Given the description of an element on the screen output the (x, y) to click on. 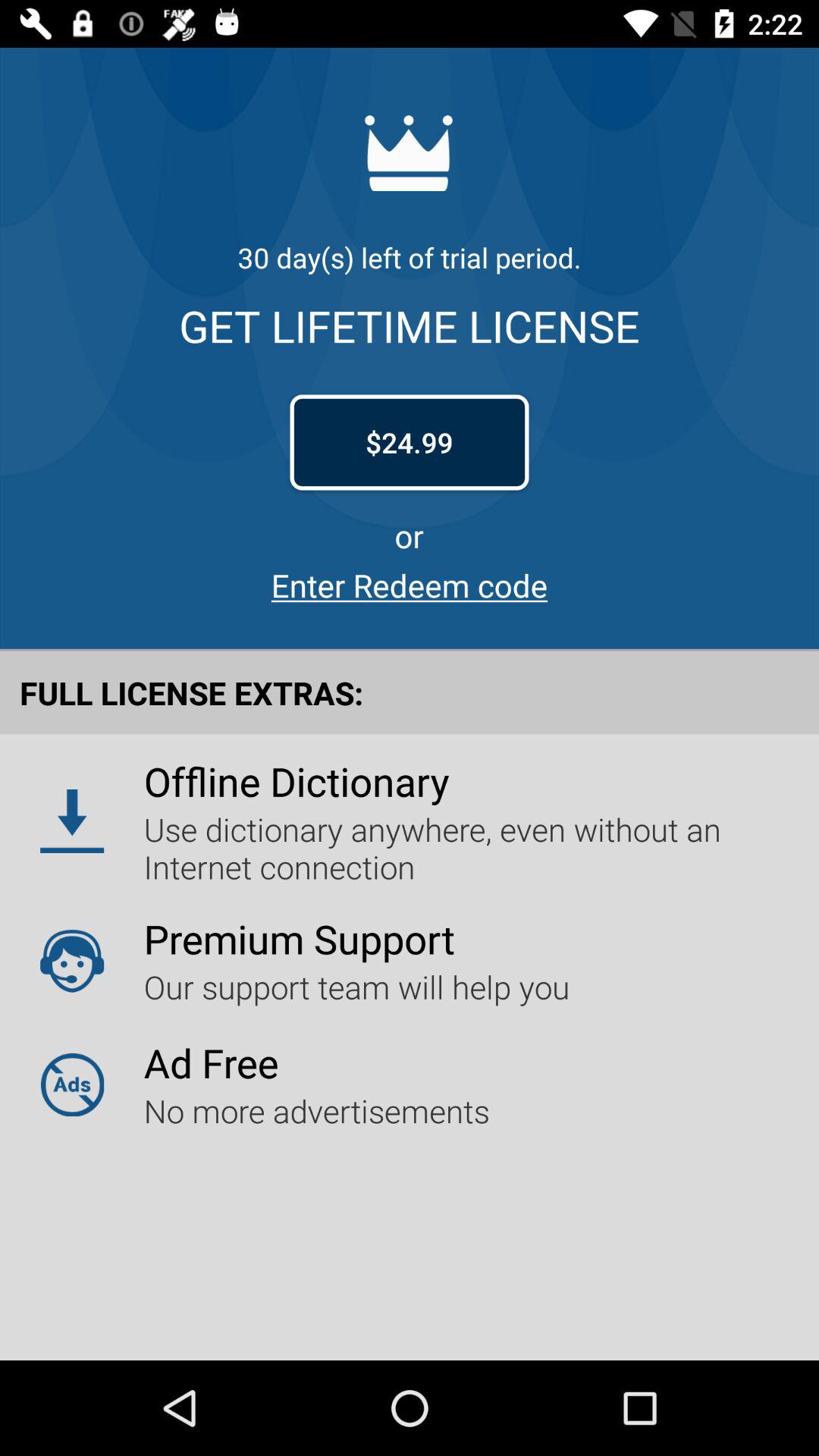
turn off $24.99 icon (409, 442)
